Given the description of an element on the screen output the (x, y) to click on. 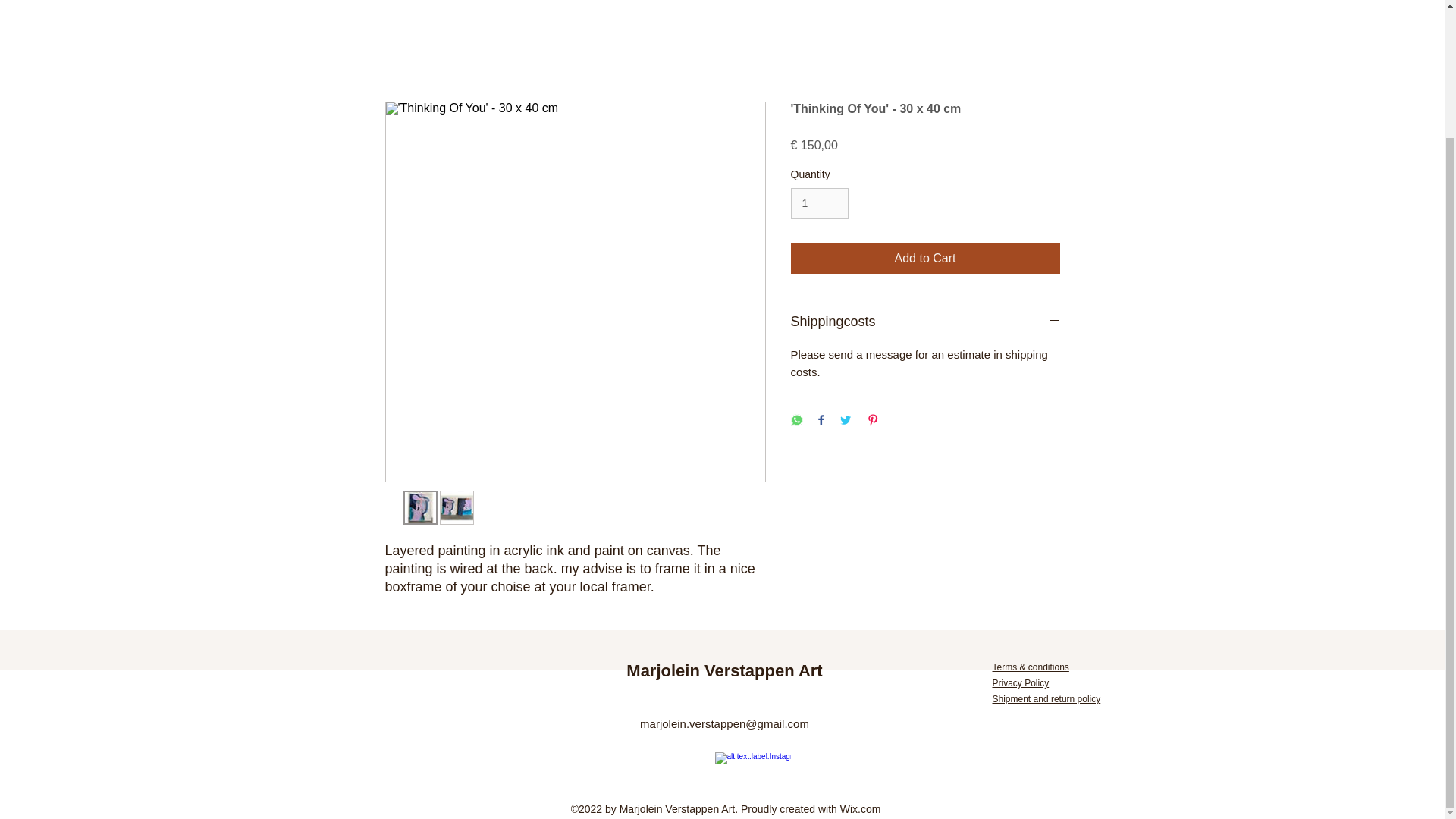
Add to Cart (924, 258)
Privacy Policy (1019, 683)
1 (818, 203)
Shippingcosts (924, 322)
Shipment and return policy (1045, 698)
